Given the description of an element on the screen output the (x, y) to click on. 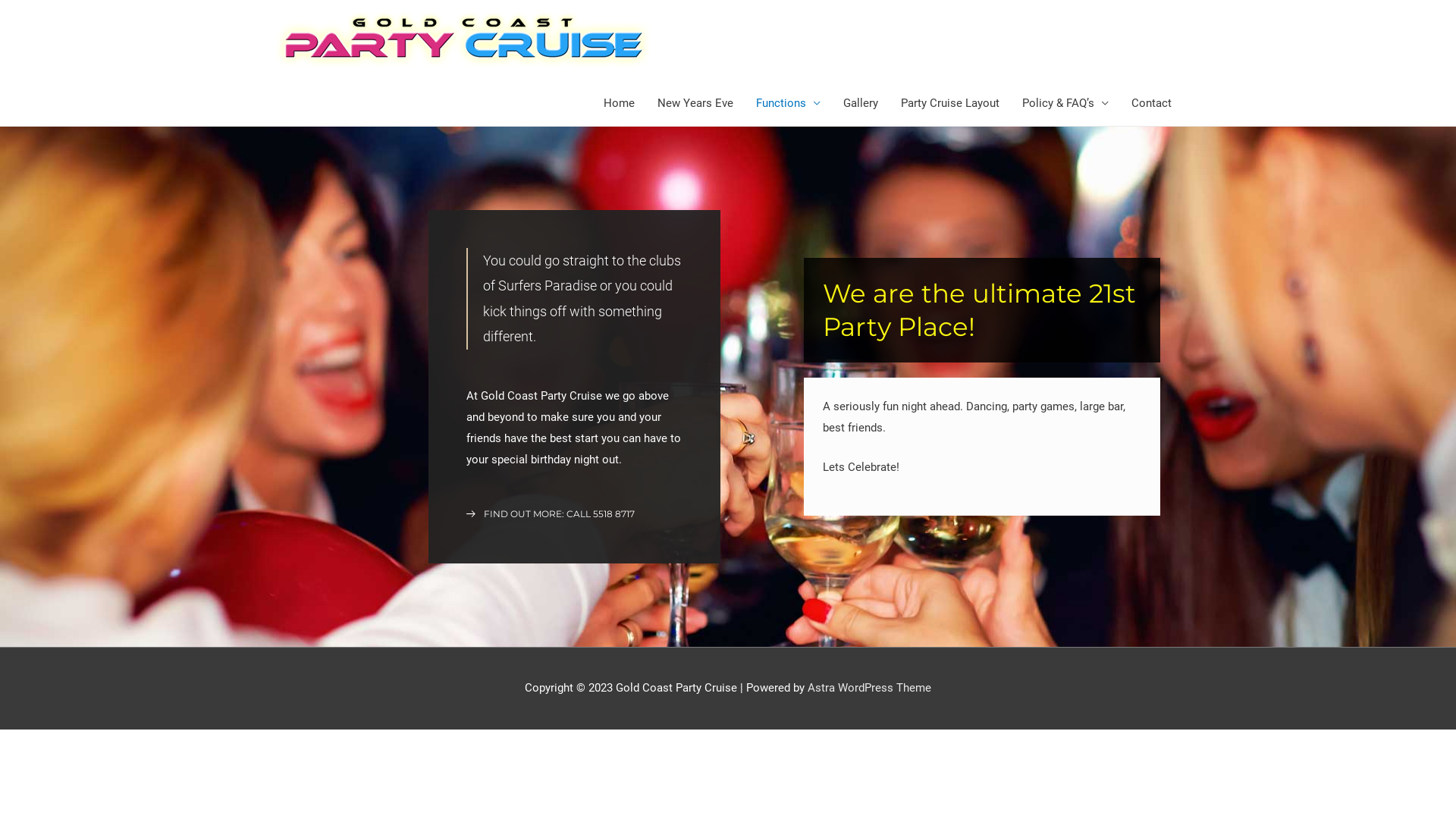
Functions Element type: text (787, 102)
New Years Eve Element type: text (695, 102)
Gallery Element type: text (860, 102)
Home Element type: text (619, 102)
Astra WordPress Theme Element type: text (869, 687)
FIND OUT MORE: CALL 5518 8717 Element type: text (550, 514)
Party Cruise Layout Element type: text (949, 102)
Contact Element type: text (1151, 102)
